Given the description of an element on the screen output the (x, y) to click on. 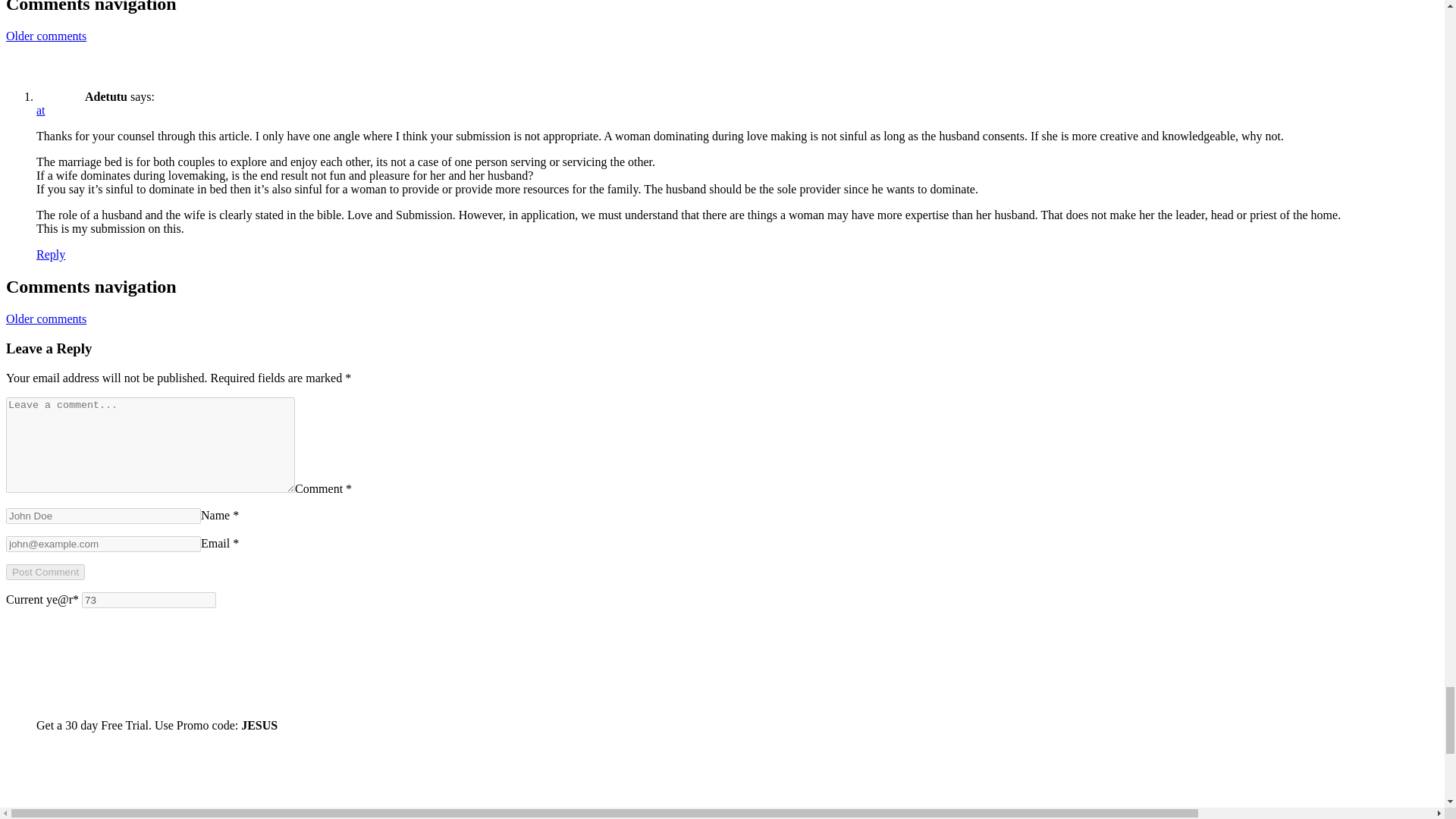
Post Comment (44, 571)
73 (148, 599)
